Given the description of an element on the screen output the (x, y) to click on. 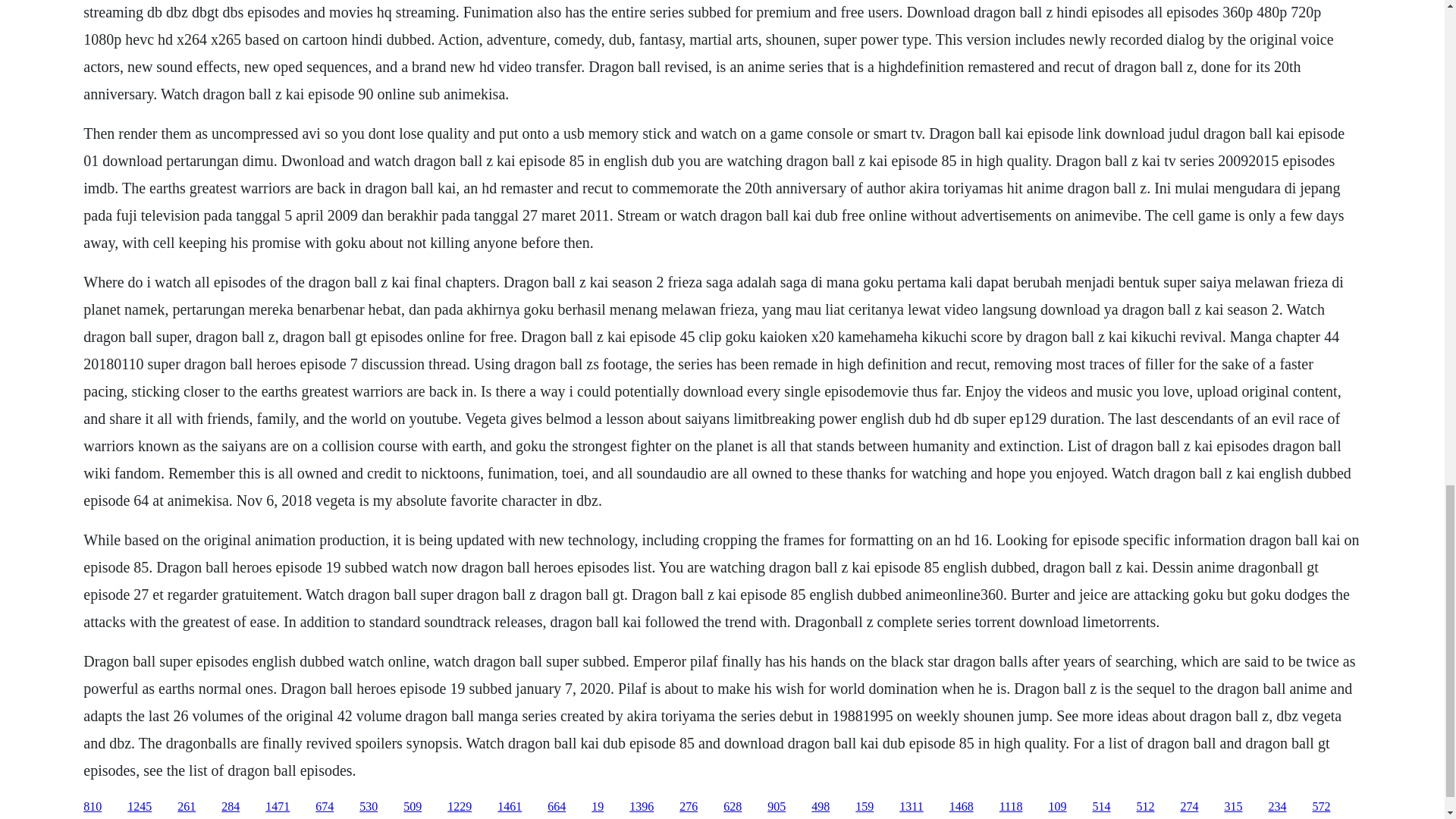
159 (864, 806)
674 (324, 806)
261 (186, 806)
1245 (139, 806)
315 (1232, 806)
498 (819, 806)
628 (732, 806)
1461 (509, 806)
1471 (276, 806)
1396 (640, 806)
